Given the description of an element on the screen output the (x, y) to click on. 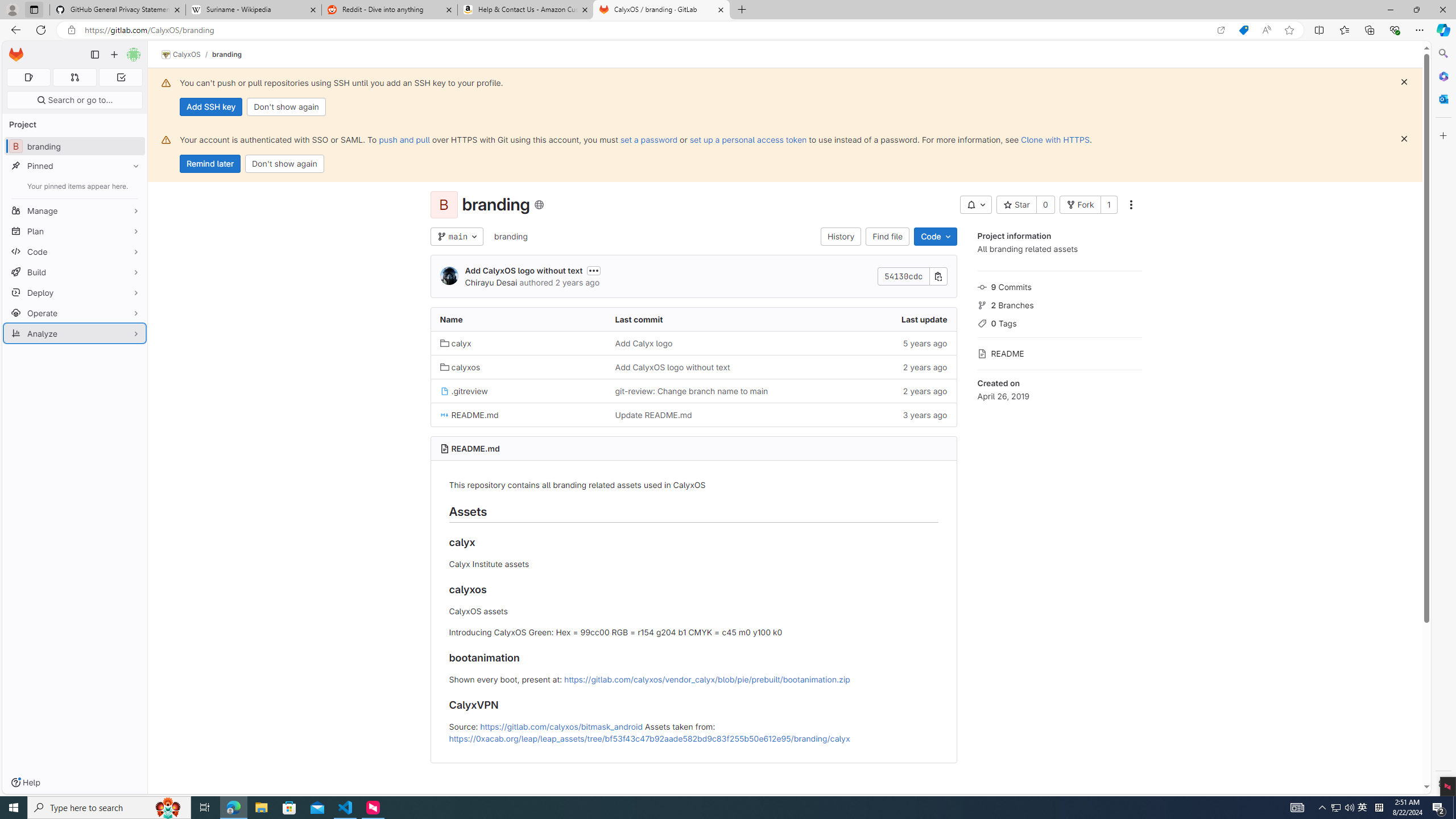
GitHub General Privacy Statement - GitHub Docs (117, 9)
Find file (888, 236)
Deploy (74, 292)
set up a personal access token (747, 139)
Bbranding (74, 145)
